Given the description of an element on the screen output the (x, y) to click on. 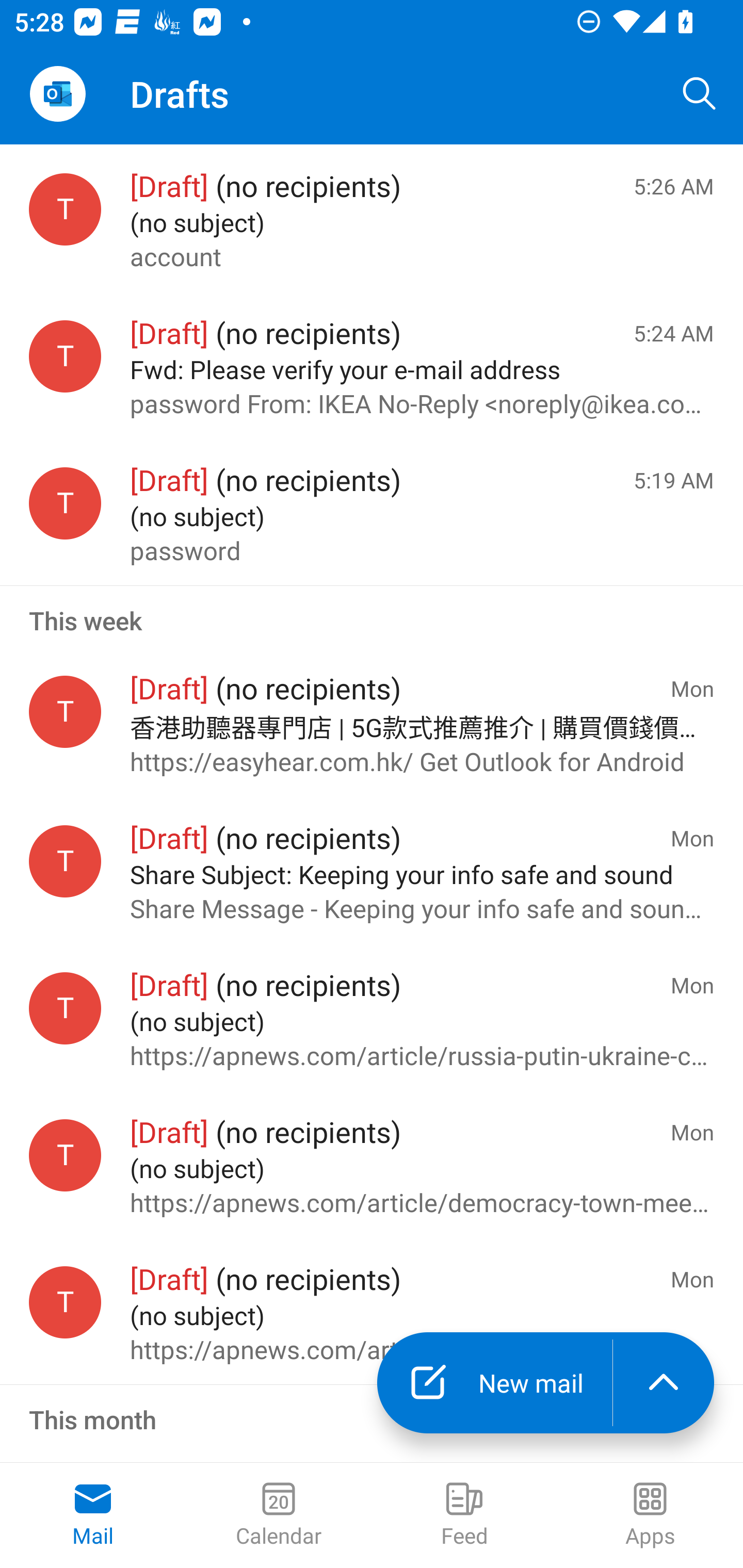
Search, ,  (699, 93)
Open Navigation Drawer (57, 94)
testappium002@outlook.com (64, 210)
testappium002@outlook.com (64, 355)
testappium002@outlook.com (64, 503)
testappium002@outlook.com (64, 711)
testappium002@outlook.com (64, 860)
testappium002@outlook.com (64, 1008)
testappium002@outlook.com (64, 1155)
testappium002@outlook.com (64, 1302)
New mail (494, 1382)
launch the extended action menu (663, 1382)
Calendar (278, 1515)
Feed (464, 1515)
Apps (650, 1515)
